Given the description of an element on the screen output the (x, y) to click on. 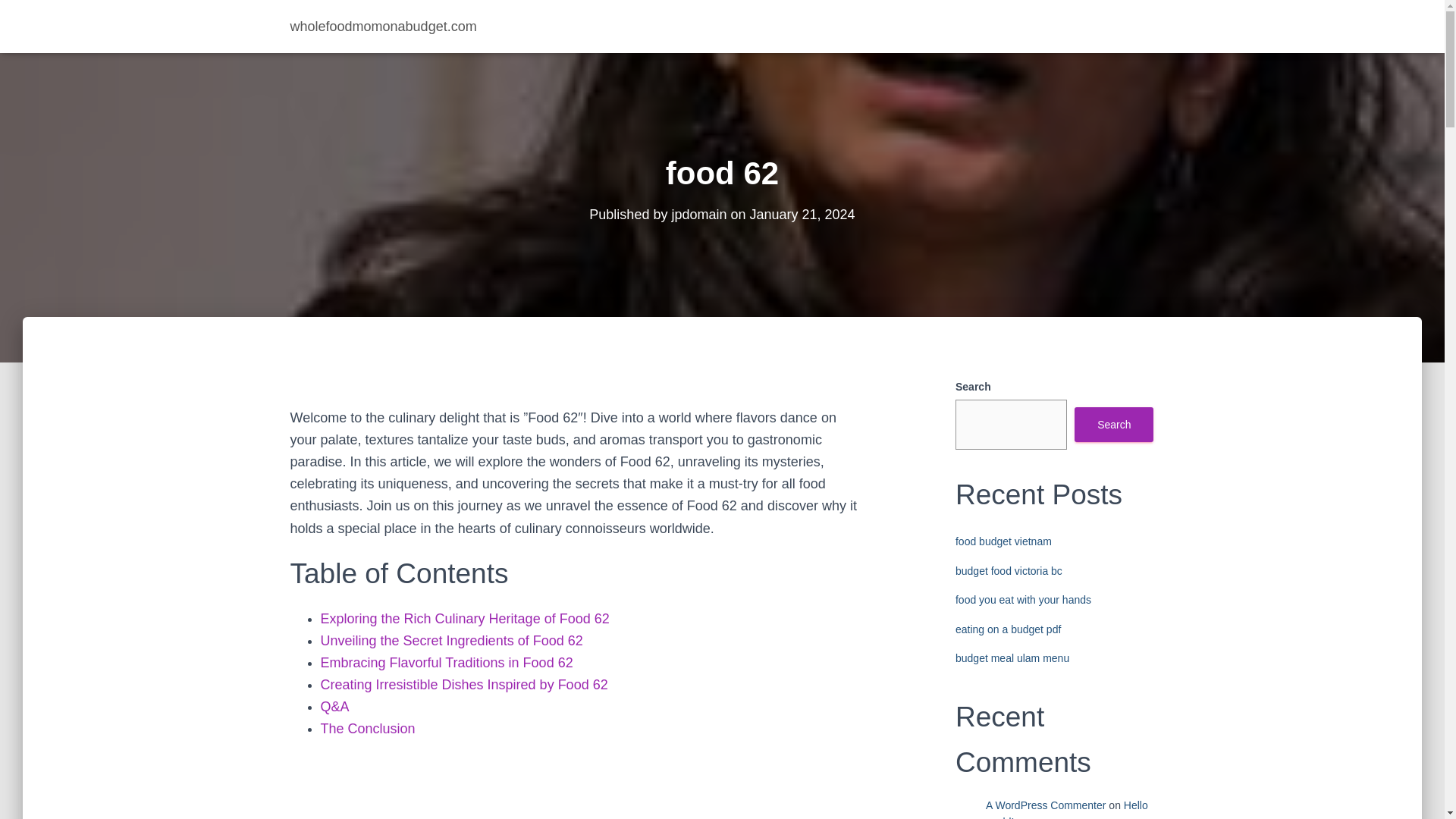
budget meal ulam menu (1011, 657)
wholefoodmomonabudget.com (383, 26)
eating on a budget pdf (1008, 629)
food budget vietnam (1003, 541)
Search (1113, 425)
food you eat with your hands (1022, 599)
wholefoodmomonabudget.com (383, 26)
The Conclusion (367, 728)
budget food victoria bc (1008, 571)
jpdomain (698, 214)
